Given the description of an element on the screen output the (x, y) to click on. 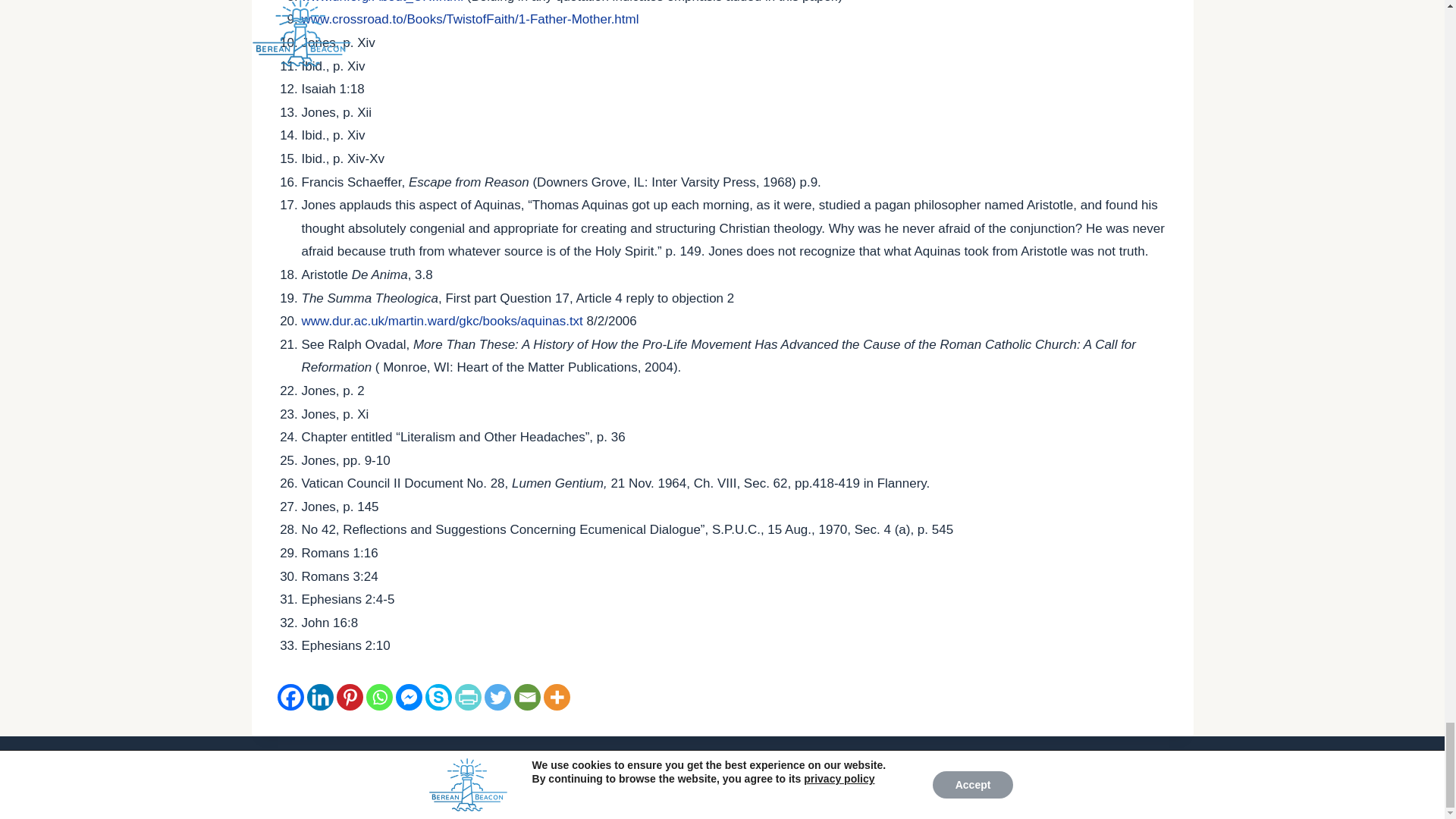
Whatsapp (378, 696)
Linkedin (319, 696)
More (556, 696)
Facebook (291, 696)
Pinterest (349, 696)
Email (526, 696)
PrintFriendly (467, 696)
Skype (438, 696)
Twitter (497, 696)
